Given the description of an element on the screen output the (x, y) to click on. 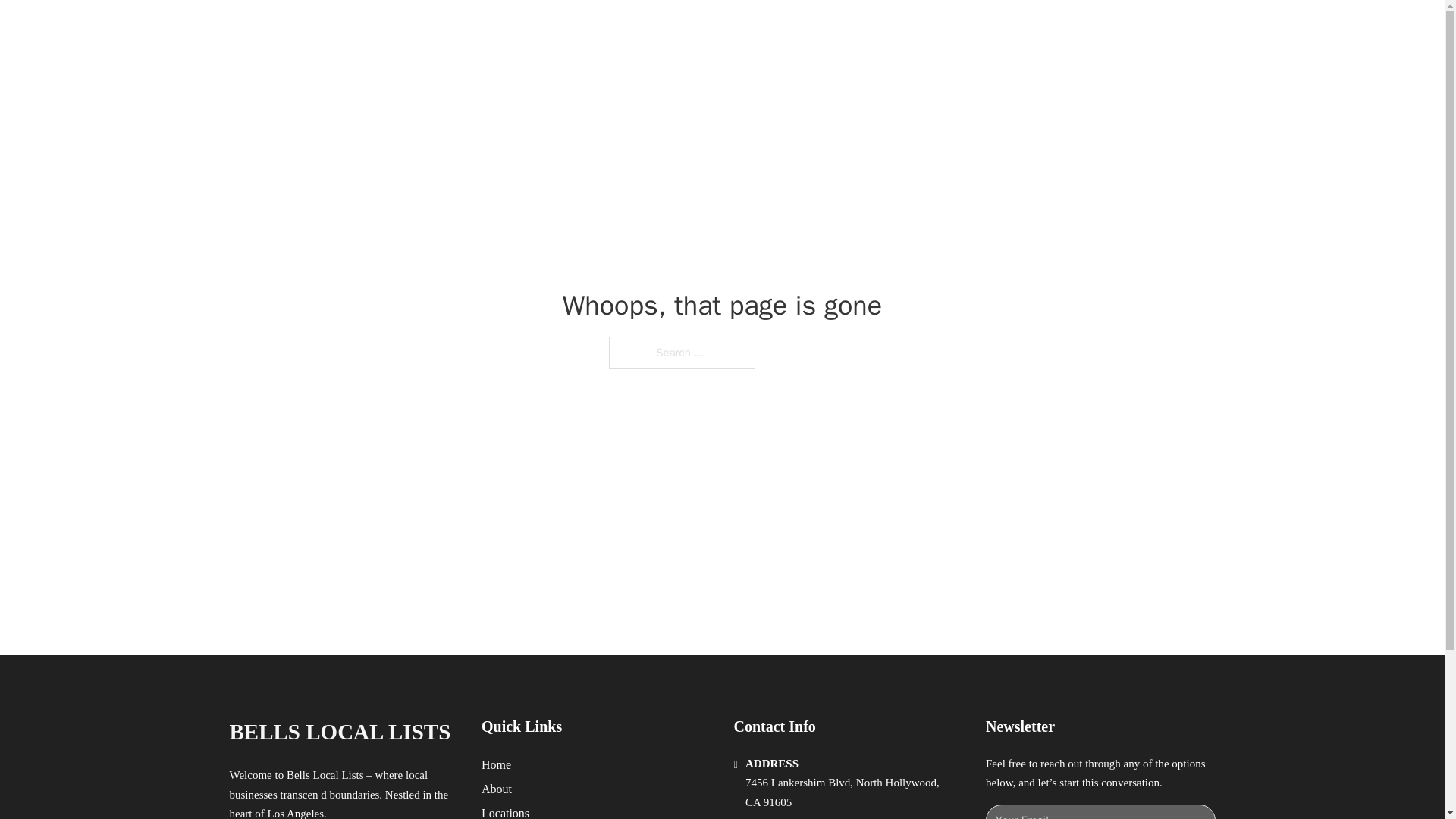
Home (496, 764)
HOME (919, 29)
About (496, 788)
BELLS LOCAL LISTS (409, 28)
Locations (505, 811)
LOCATIONS (990, 29)
BELLS LOCAL LISTS (338, 732)
